Given the description of an element on the screen output the (x, y) to click on. 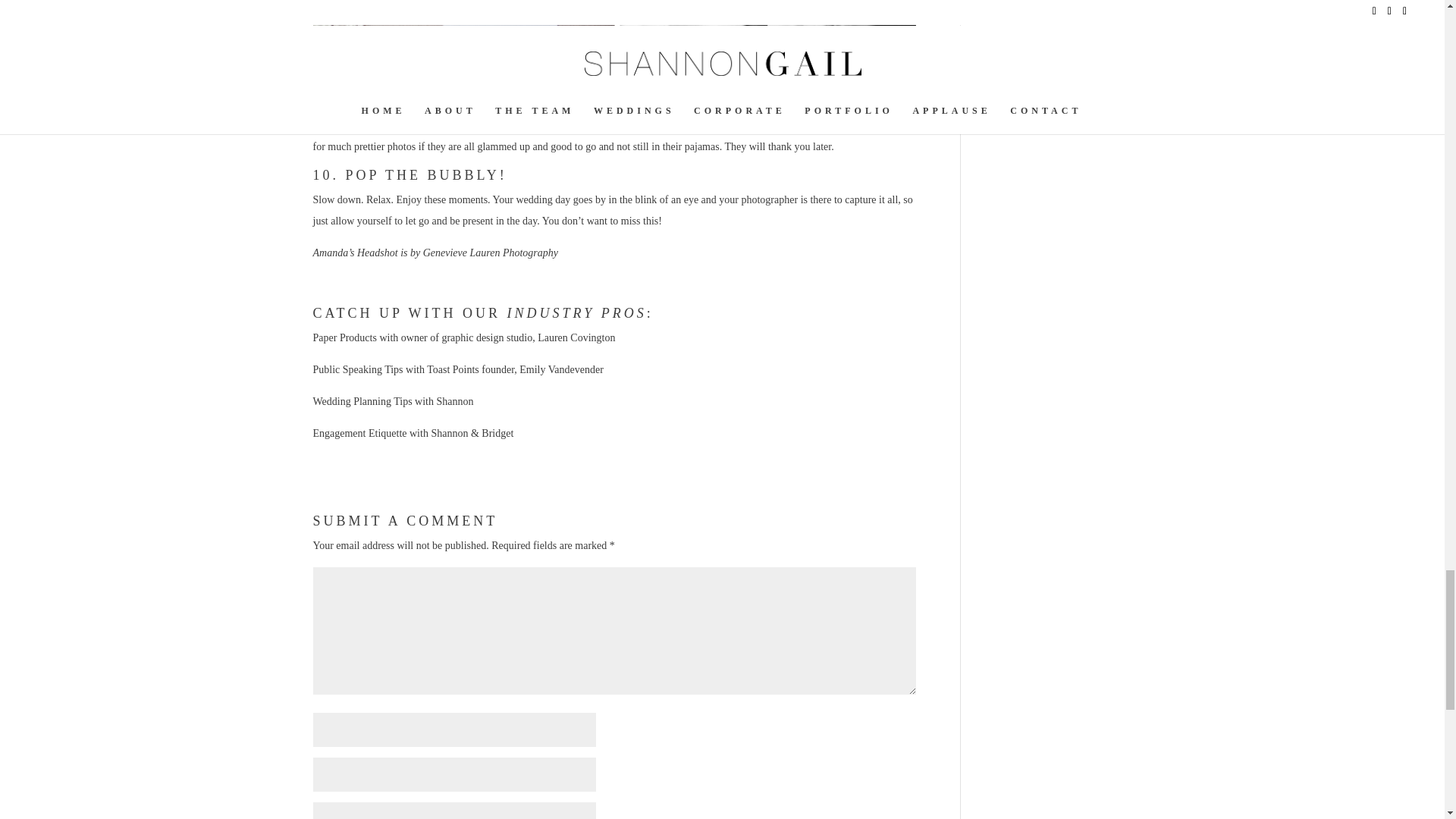
Genevieve Lauren Photography (490, 252)
Wedding Planning Tips with Shannon (393, 401)
